Given the description of an element on the screen output the (x, y) to click on. 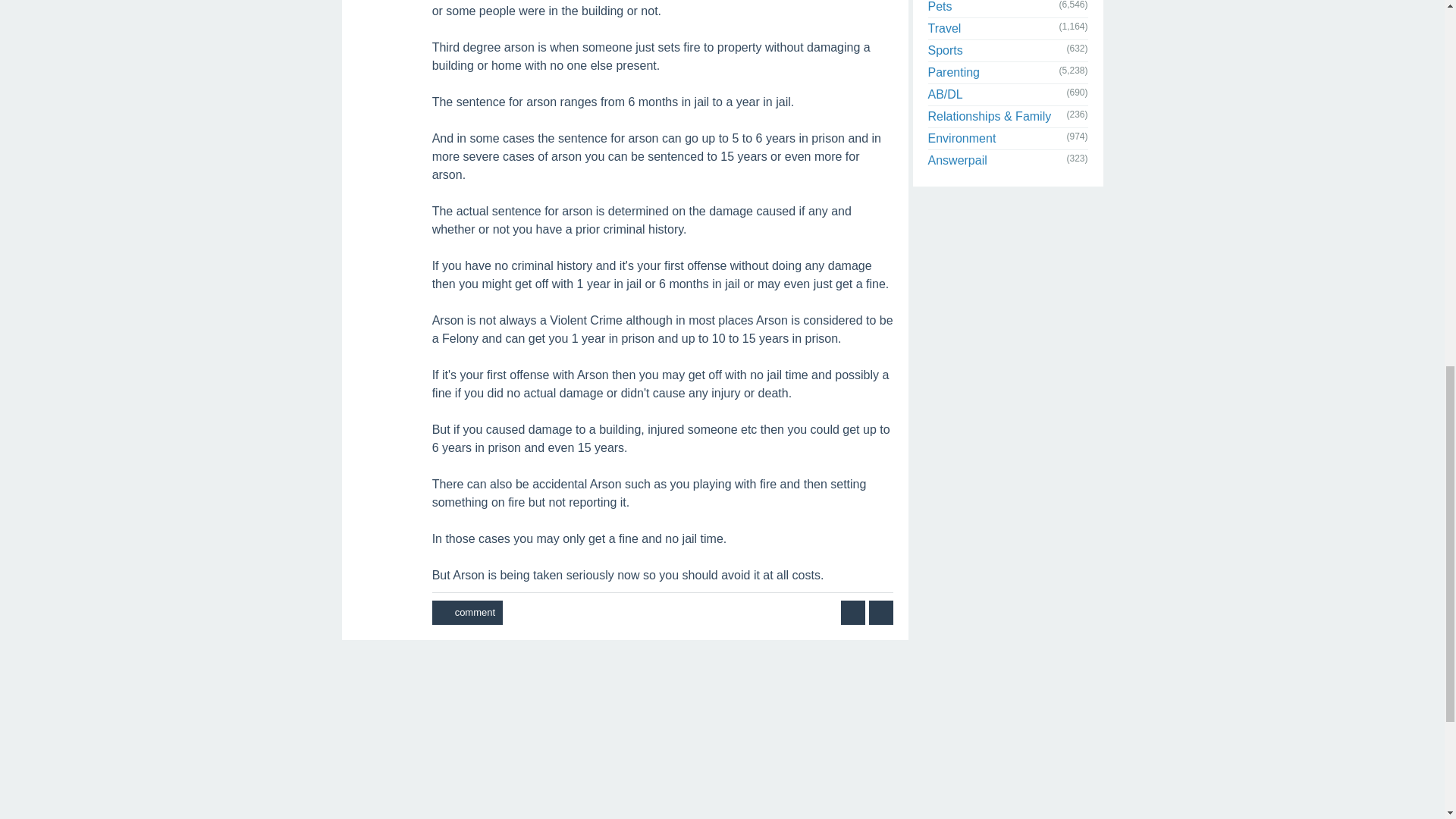
Add a comment on this answer (467, 612)
ask related question (852, 612)
comment (467, 612)
Flag this answer as spam or inappropriate (881, 612)
flag (881, 612)
comment (467, 612)
Post questions regarding Answerpail in this category. (957, 160)
Ask a new question relating to this answer (852, 612)
ask related question (852, 612)
